Given the description of an element on the screen output the (x, y) to click on. 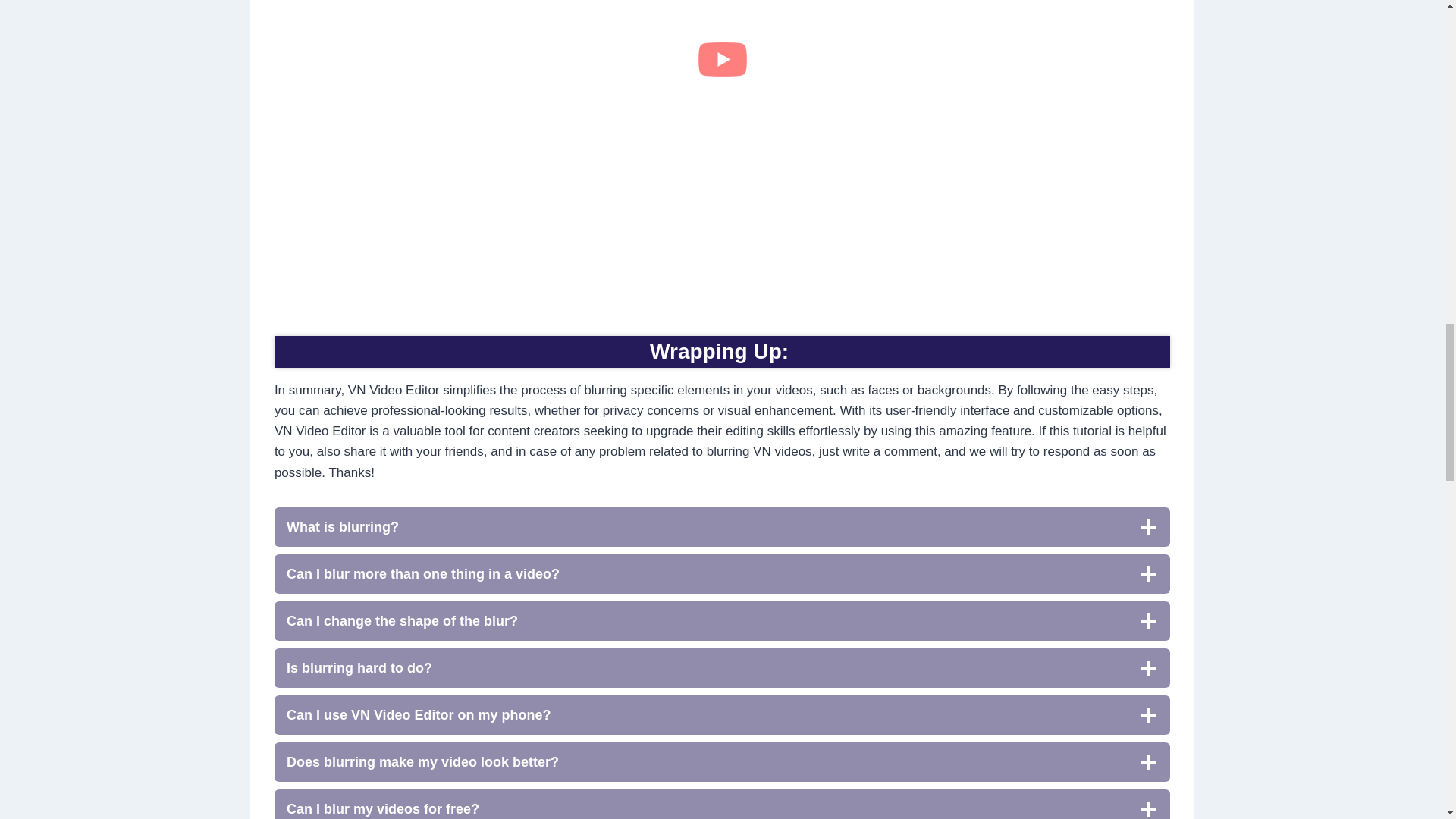
Can I change the shape of the blur? (722, 620)
Can I blur my videos for free? (722, 804)
Can I use VN Video Editor on my phone? (722, 714)
What is blurring? (722, 526)
Does blurring make my video look better? (722, 762)
Is blurring hard to do? (722, 667)
Can I blur more than one thing in a video? (722, 573)
